Given the description of an element on the screen output the (x, y) to click on. 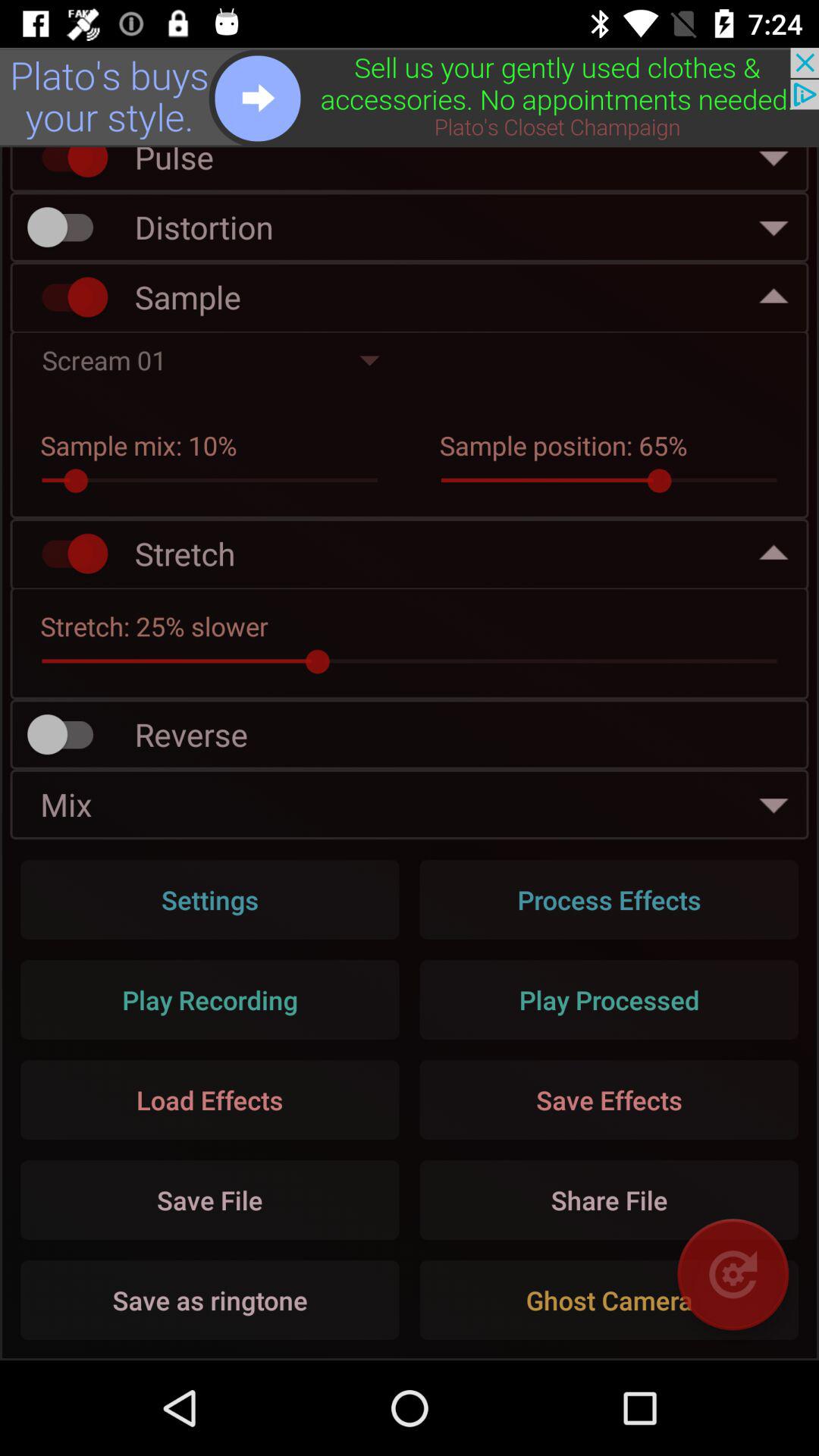
toggle pulse (67, 165)
